Given the description of an element on the screen output the (x, y) to click on. 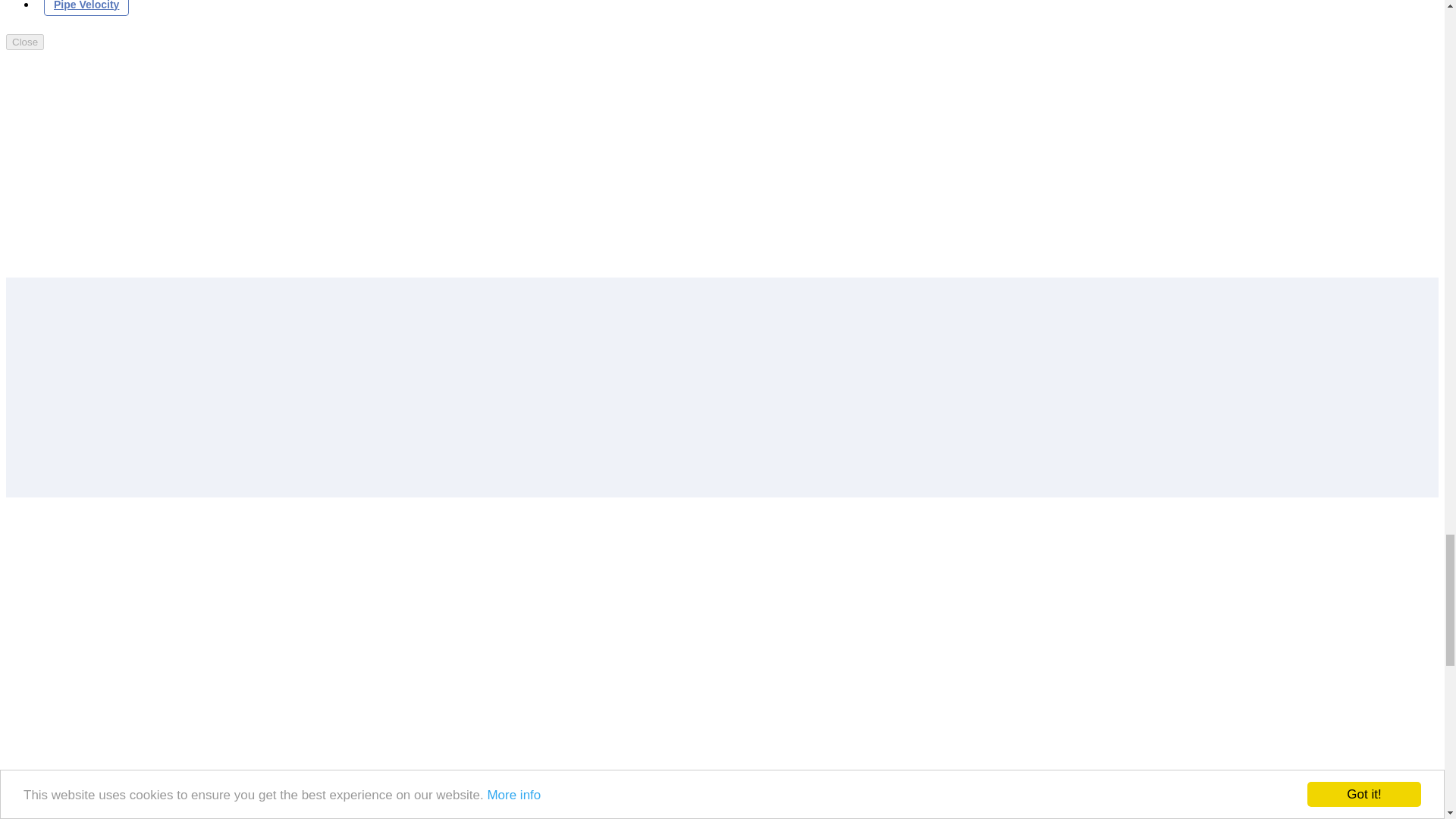
Close (24, 41)
Pipe Velocity (86, 7)
